Given the description of an element on the screen output the (x, y) to click on. 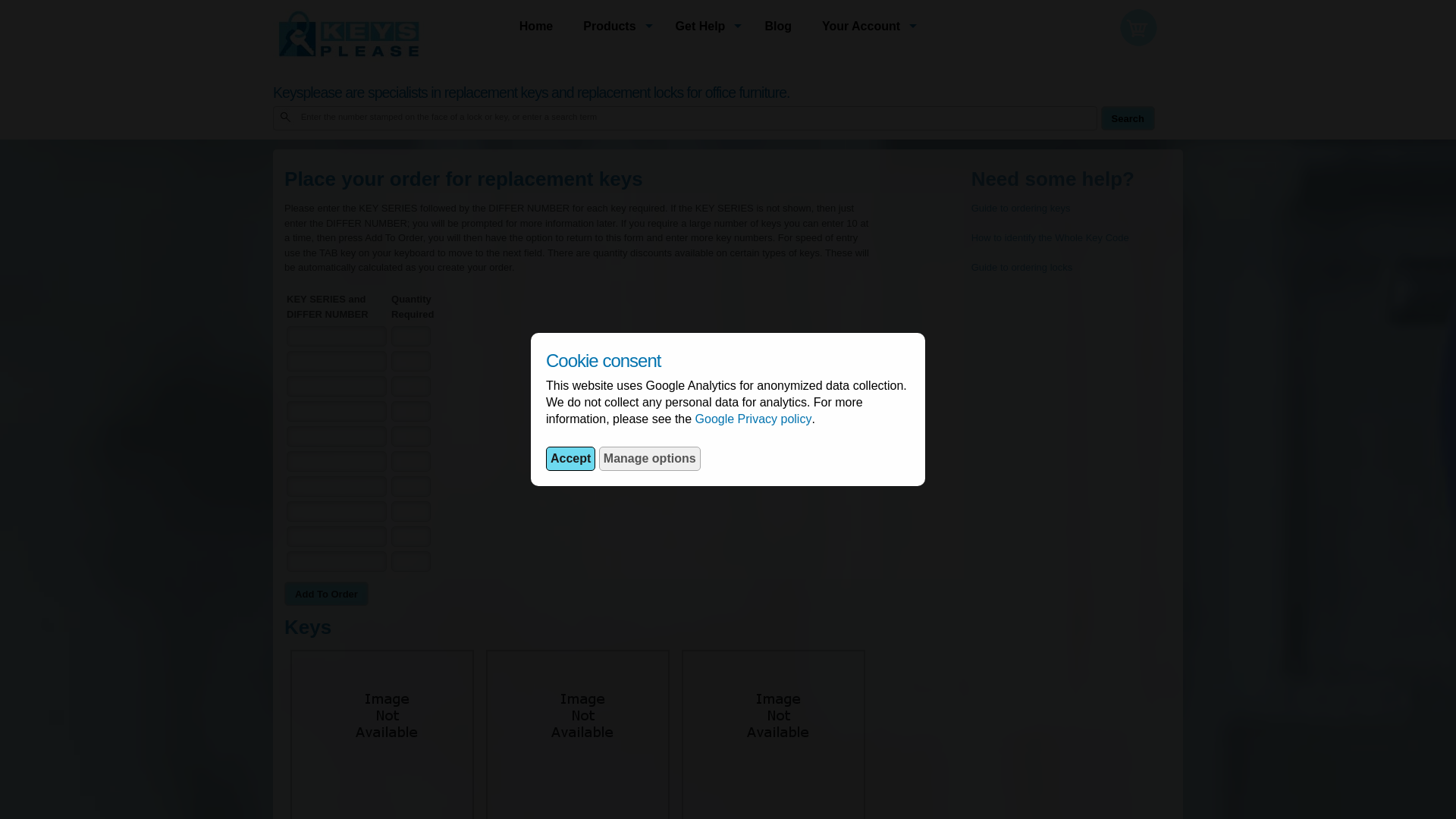
Add To Order (325, 593)
Blog (777, 26)
Search (1127, 118)
Products (613, 26)
Home (777, 26)
Home (535, 26)
Search (1127, 118)
Home (535, 26)
Guide to ordering keys (1020, 207)
Get Help (705, 26)
Guide to ordering locks (1022, 266)
Your Account (865, 26)
How to identify the Whole Key Code (1050, 237)
